Given the description of an element on the screen output the (x, y) to click on. 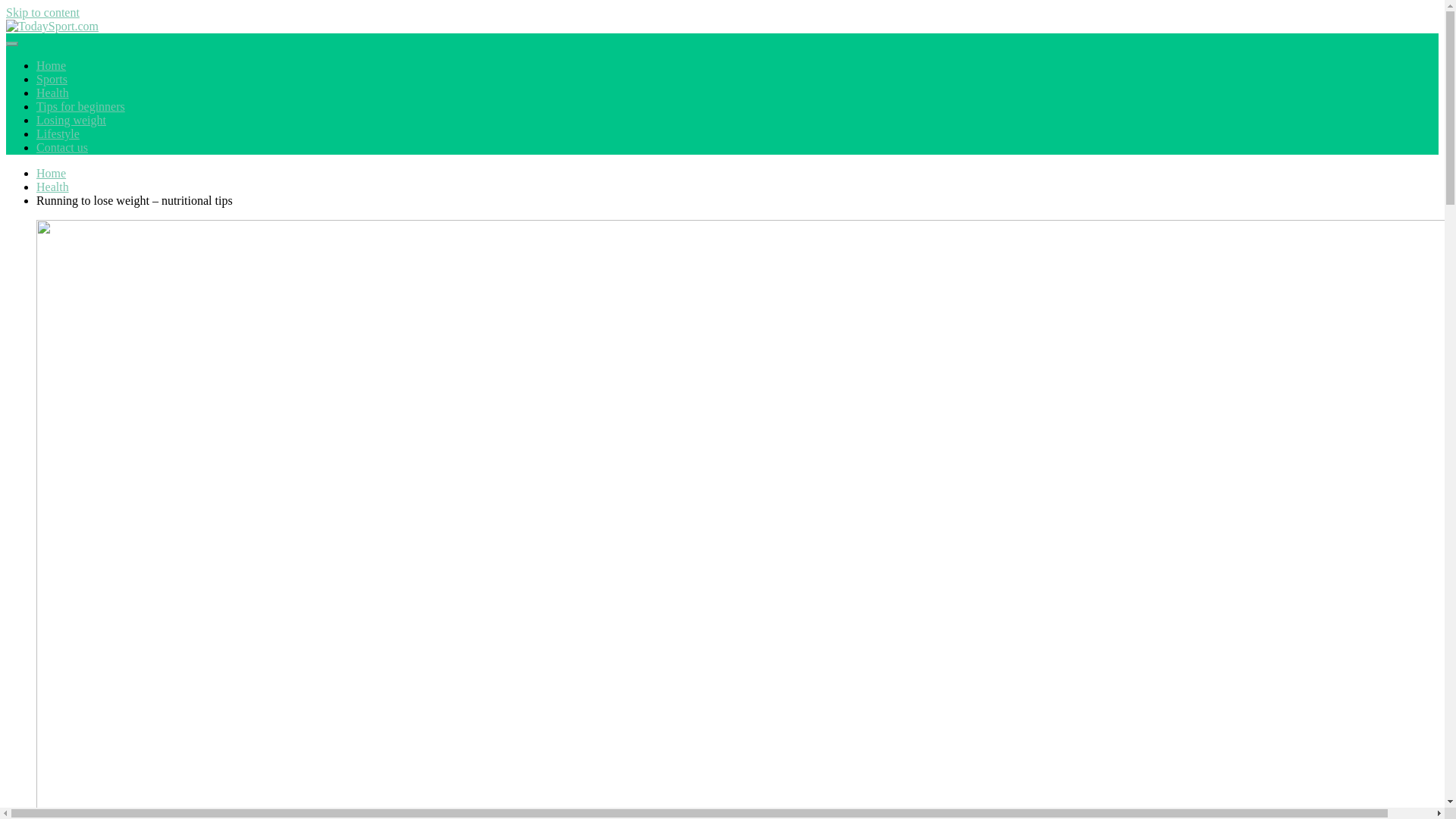
Contact us (61, 146)
TodaySport.com (69, 57)
Skip to content (42, 11)
Health (52, 92)
Tips for beginners (80, 106)
Sports (51, 78)
Losing weight (71, 119)
Health (52, 186)
Home (50, 173)
Lifestyle (58, 133)
